Given the description of an element on the screen output the (x, y) to click on. 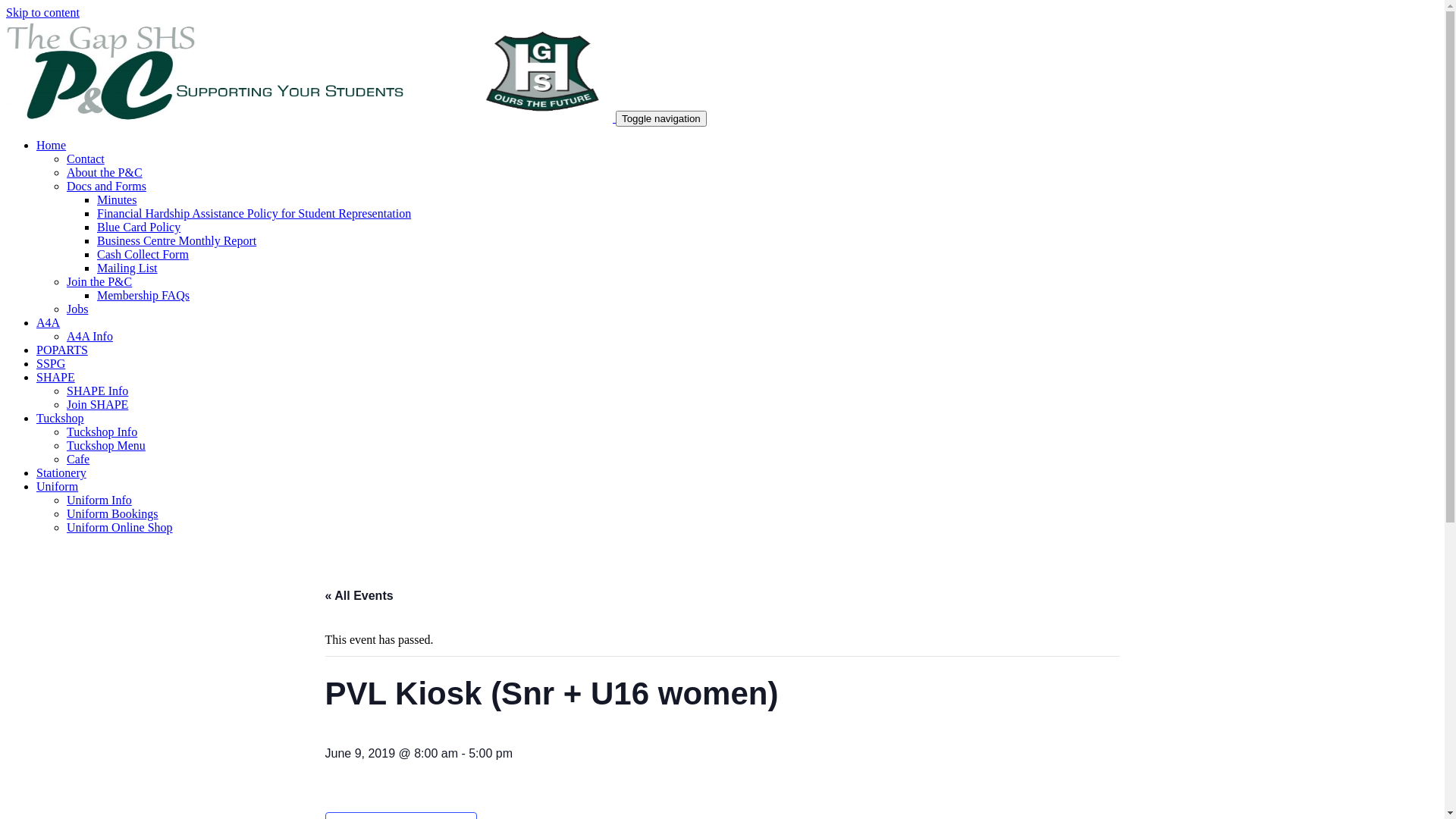
SHAPE Info Element type: text (97, 390)
Membership FAQs Element type: text (143, 294)
Cash Collect Form Element type: text (142, 253)
Uniform Element type: text (57, 486)
Blue Card Policy Element type: text (138, 226)
Cafe Element type: text (77, 458)
About the P&C Element type: text (104, 172)
Stationery Element type: text (61, 472)
SSPG Element type: text (50, 363)
Join the P&C Element type: text (98, 281)
A4A Element type: text (47, 322)
Contact Element type: text (85, 158)
Tuckshop Menu Element type: text (105, 445)
Skip to content Element type: text (42, 12)
Tuckshop Info Element type: text (101, 431)
Business Centre Monthly Report Element type: text (176, 240)
Uniform Online Shop Element type: text (119, 526)
Toggle navigation Element type: text (660, 118)
Uniform Bookings Element type: text (111, 513)
Jobs Element type: text (76, 308)
Tuckshop Element type: text (60, 417)
Home Element type: text (50, 144)
SHAPE Element type: text (55, 376)
Minutes Element type: text (116, 199)
Uniform Info Element type: text (98, 499)
POPARTS Element type: text (61, 349)
Docs and Forms Element type: text (106, 185)
Join SHAPE Element type: text (97, 404)
A4A Info Element type: text (89, 335)
Mailing List Element type: text (127, 267)
